Given the description of an element on the screen output the (x, y) to click on. 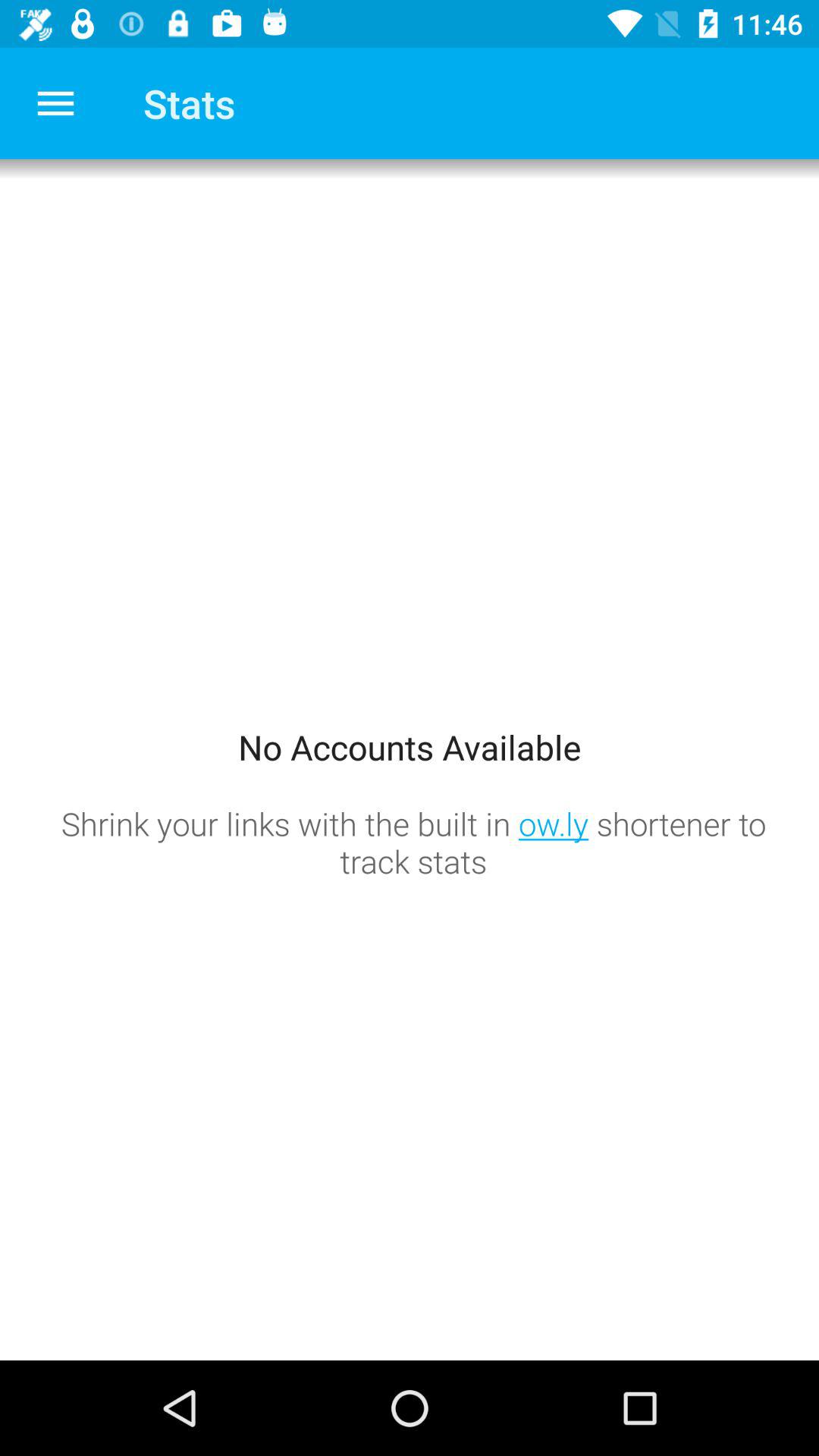
turn on the shrink your links icon (413, 841)
